Given the description of an element on the screen output the (x, y) to click on. 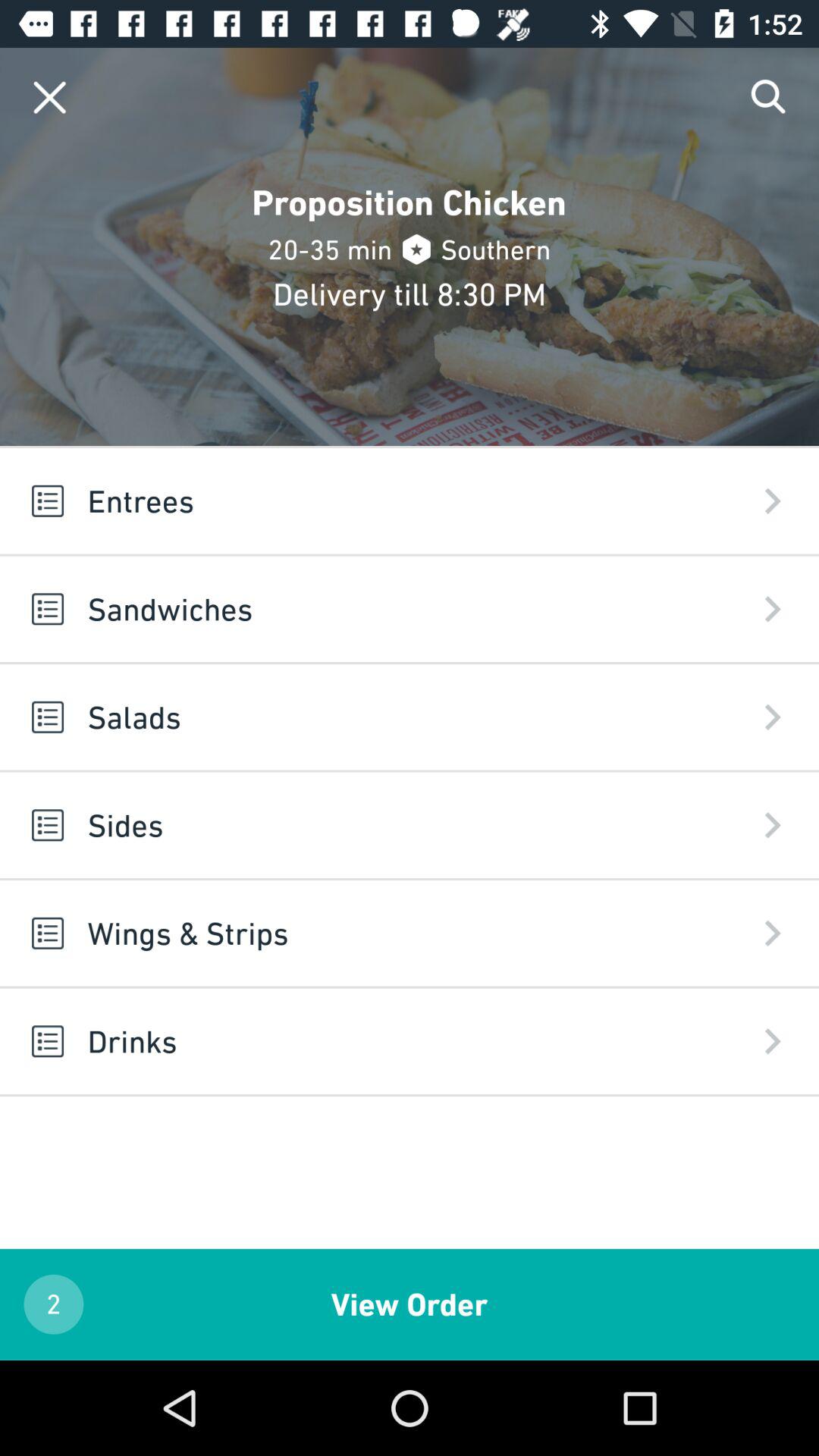
turn on icon at the top left corner (49, 97)
